Given the description of an element on the screen output the (x, y) to click on. 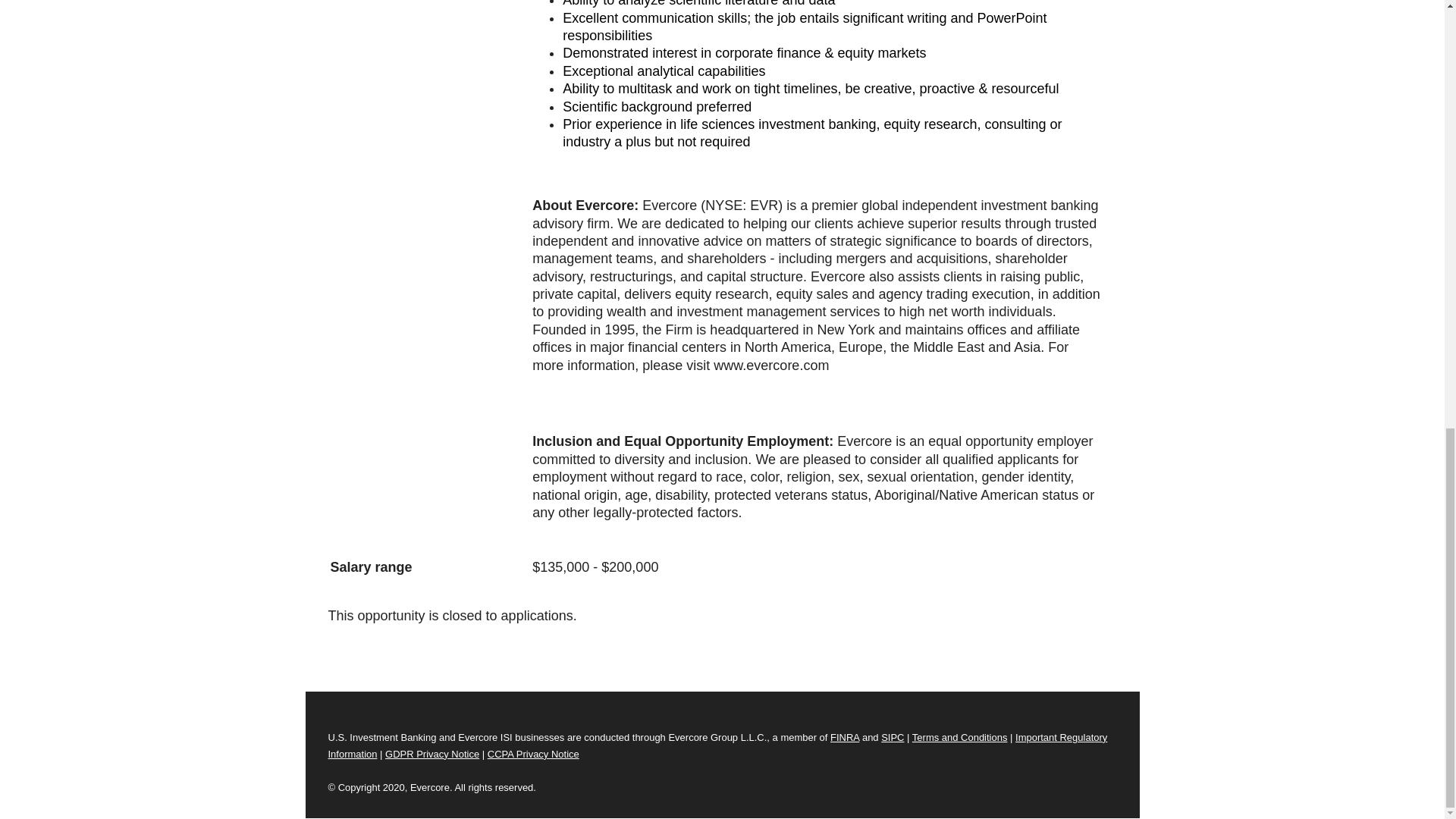
CCPA Privacy Notice (533, 754)
Important Regulatory Information (716, 746)
Terms and Conditions (959, 737)
FINRA (844, 737)
SIPC (892, 737)
GDPR Privacy Notice (432, 754)
